Given the description of an element on the screen output the (x, y) to click on. 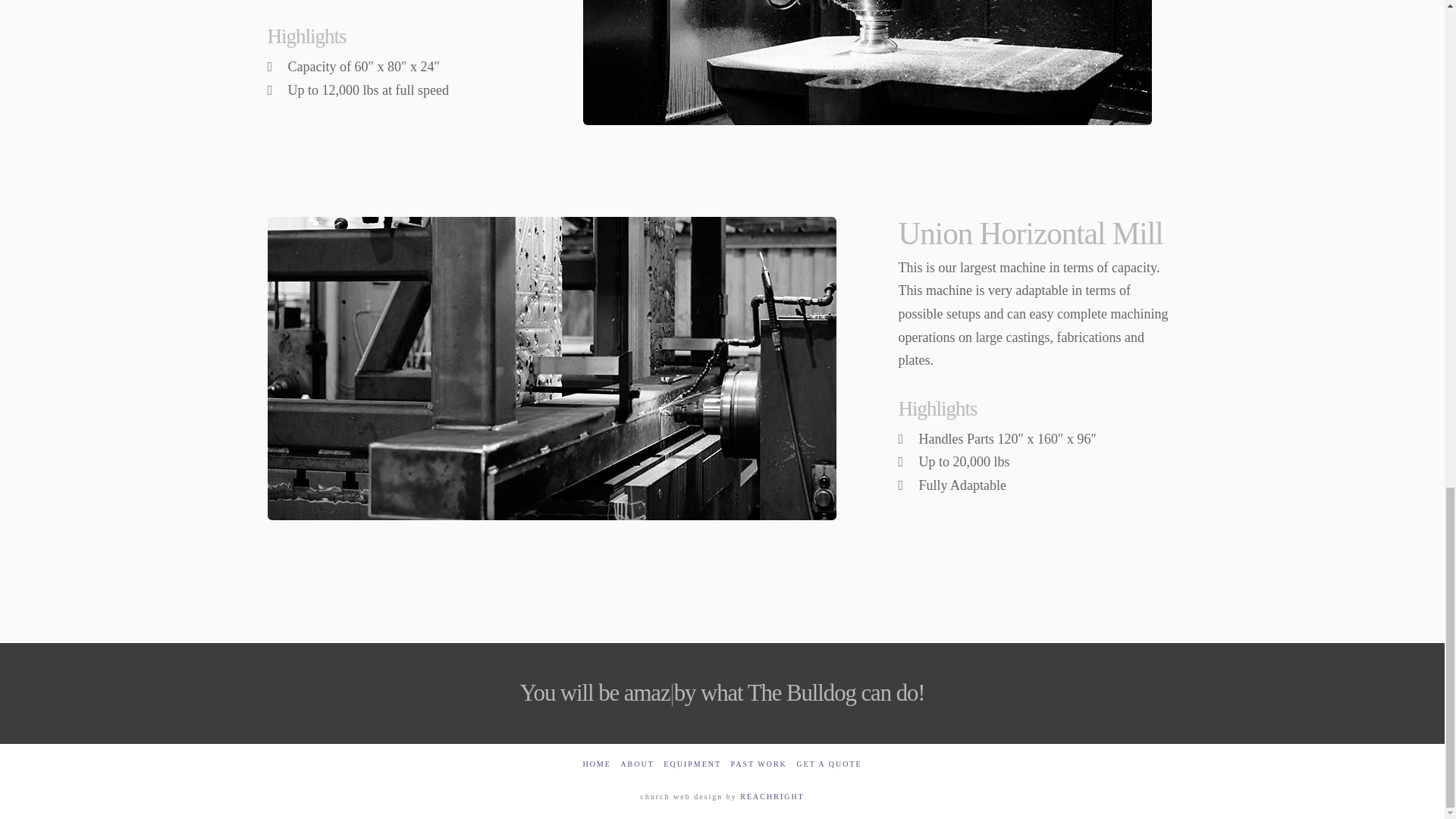
PAST WORK (758, 764)
GET A QUOTE (828, 764)
REACHRIGHT (771, 796)
church web design by REACHRIGHT (771, 796)
HOME (596, 764)
EQUIPMENT (691, 764)
ABOUT (636, 764)
